Given the description of an element on the screen output the (x, y) to click on. 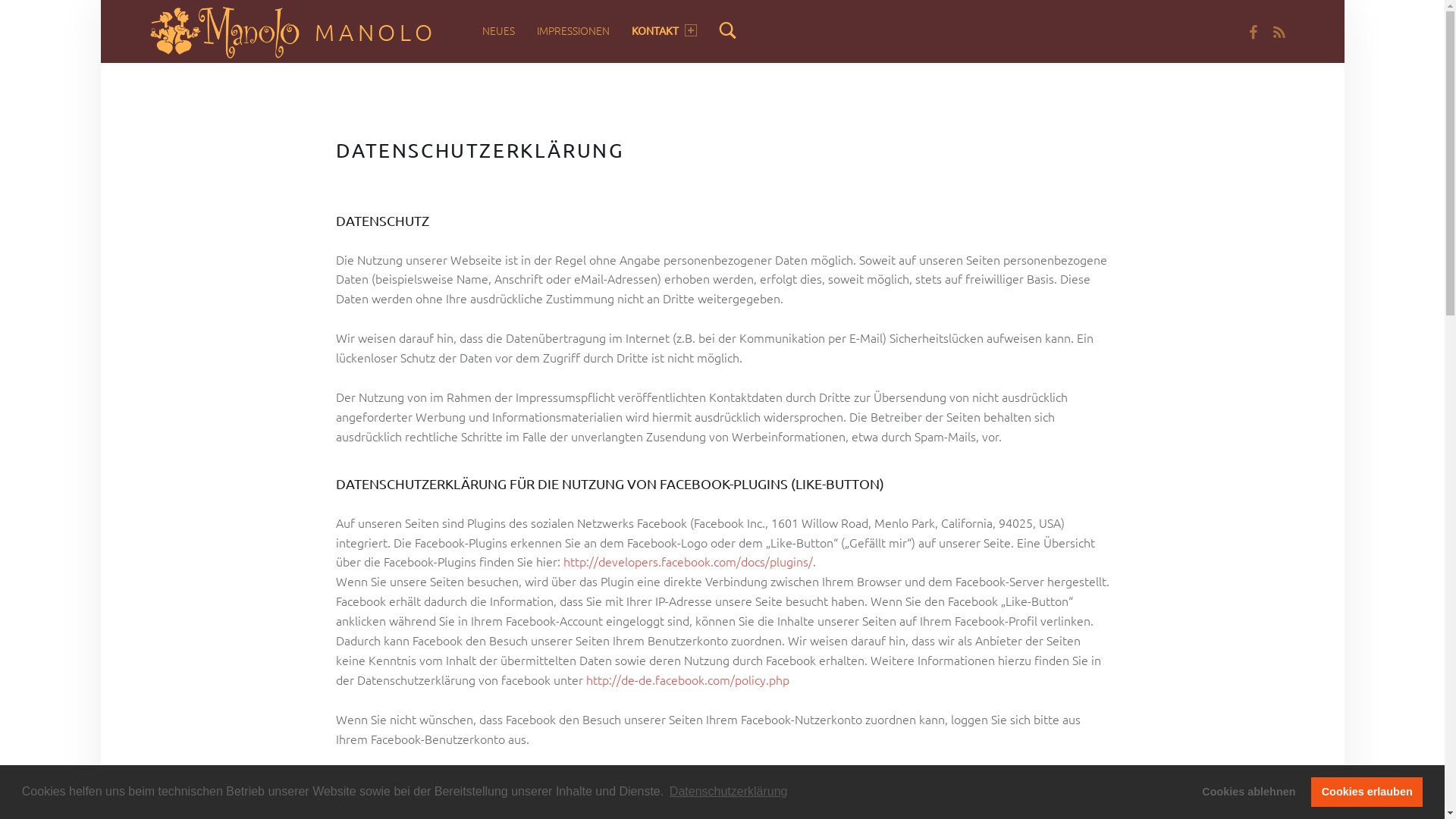
KONTAKT Element type: text (663, 30)
RSS feed Element type: text (1279, 30)
Facebook Element type: text (1252, 30)
IMPRESSIONEN Element type: text (572, 30)
http://developers.facebook.com/docs/plugins/ Element type: text (687, 560)
Cookies erlauben Element type: text (1366, 791)
http://de-de.facebook.com/policy.php Element type: text (686, 679)
NEUES Element type: text (498, 30)
MANOLO Element type: text (375, 32)
Suche Element type: text (727, 30)
Cookies ablehnen Element type: text (1248, 791)
